Given the description of an element on the screen output the (x, y) to click on. 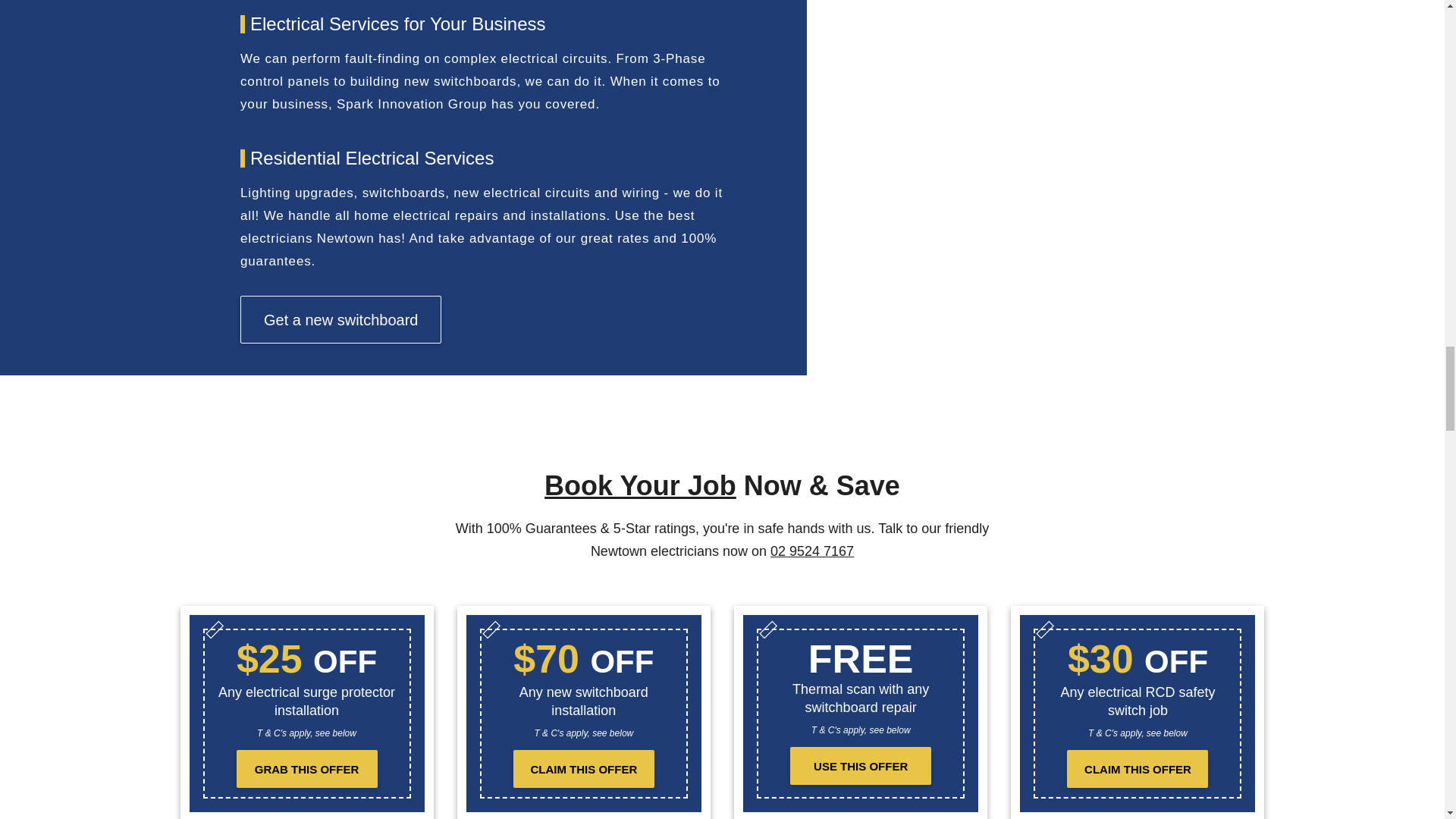
Book Your Job (640, 485)
Get a new switchboard (340, 319)
02 9524 7167 (811, 550)
